Given the description of an element on the screen output the (x, y) to click on. 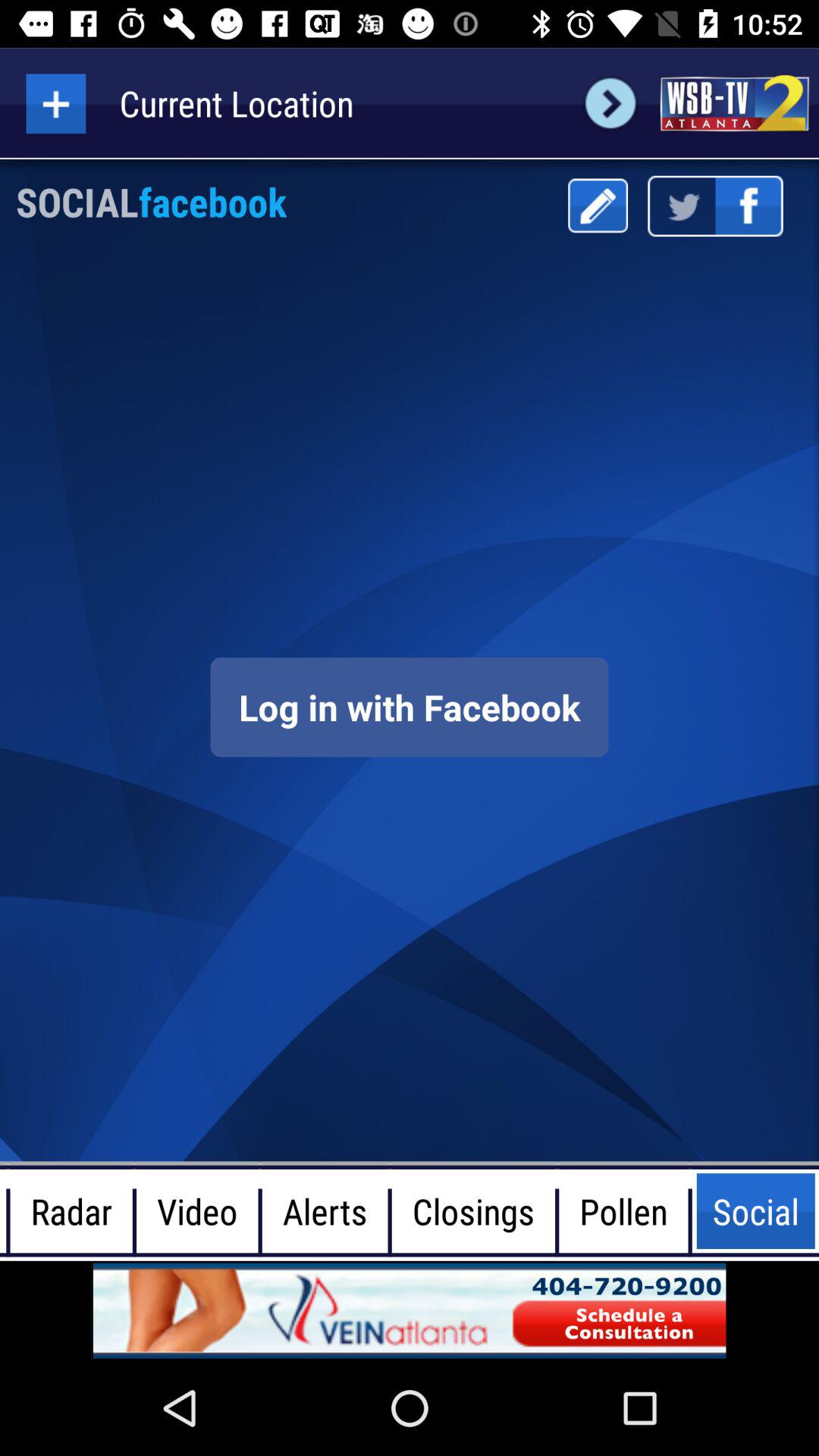
screen page (409, 1310)
